Given the description of an element on the screen output the (x, y) to click on. 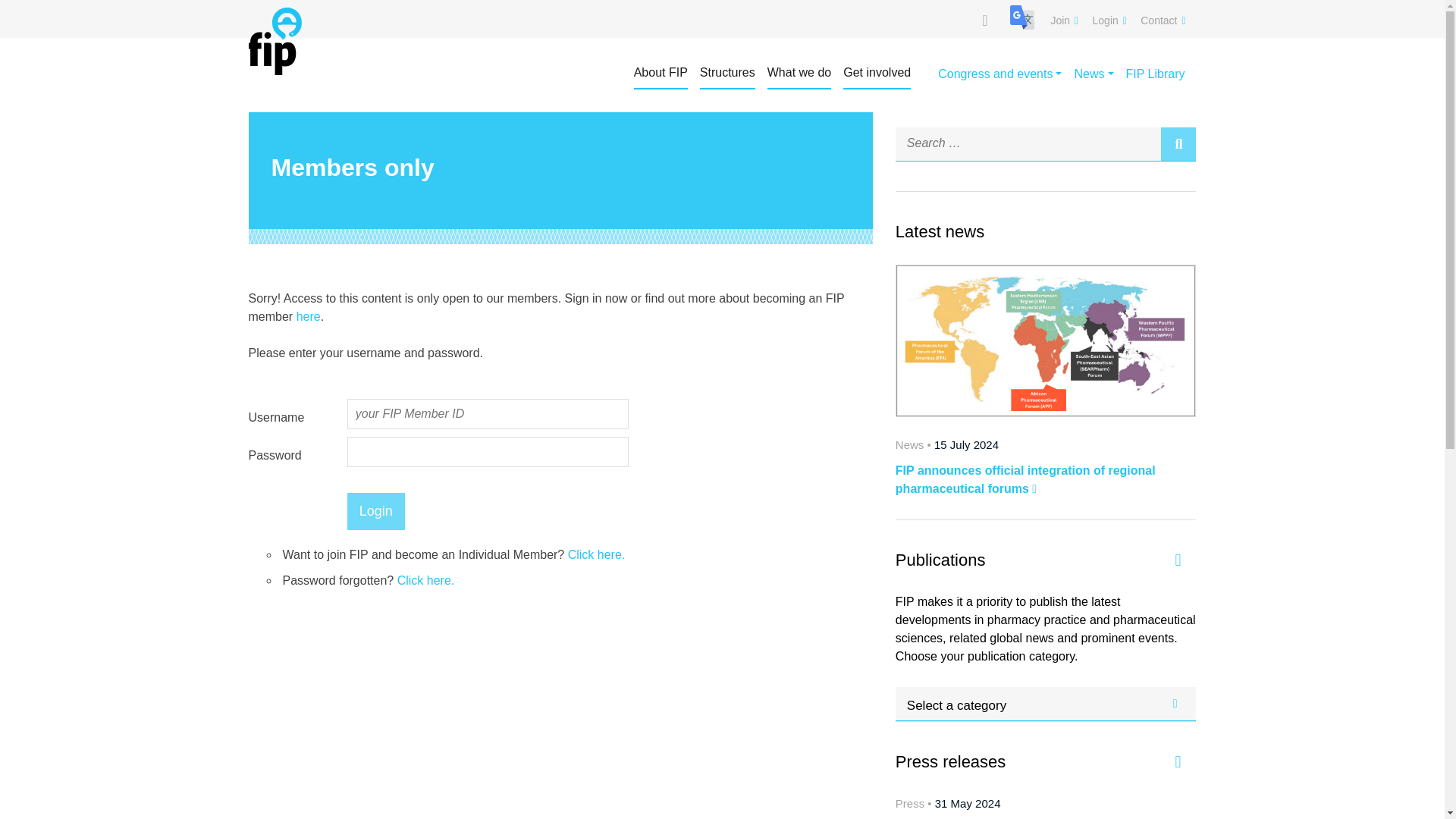
Login (375, 511)
Search for: (1028, 142)
